Given the description of an element on the screen output the (x, y) to click on. 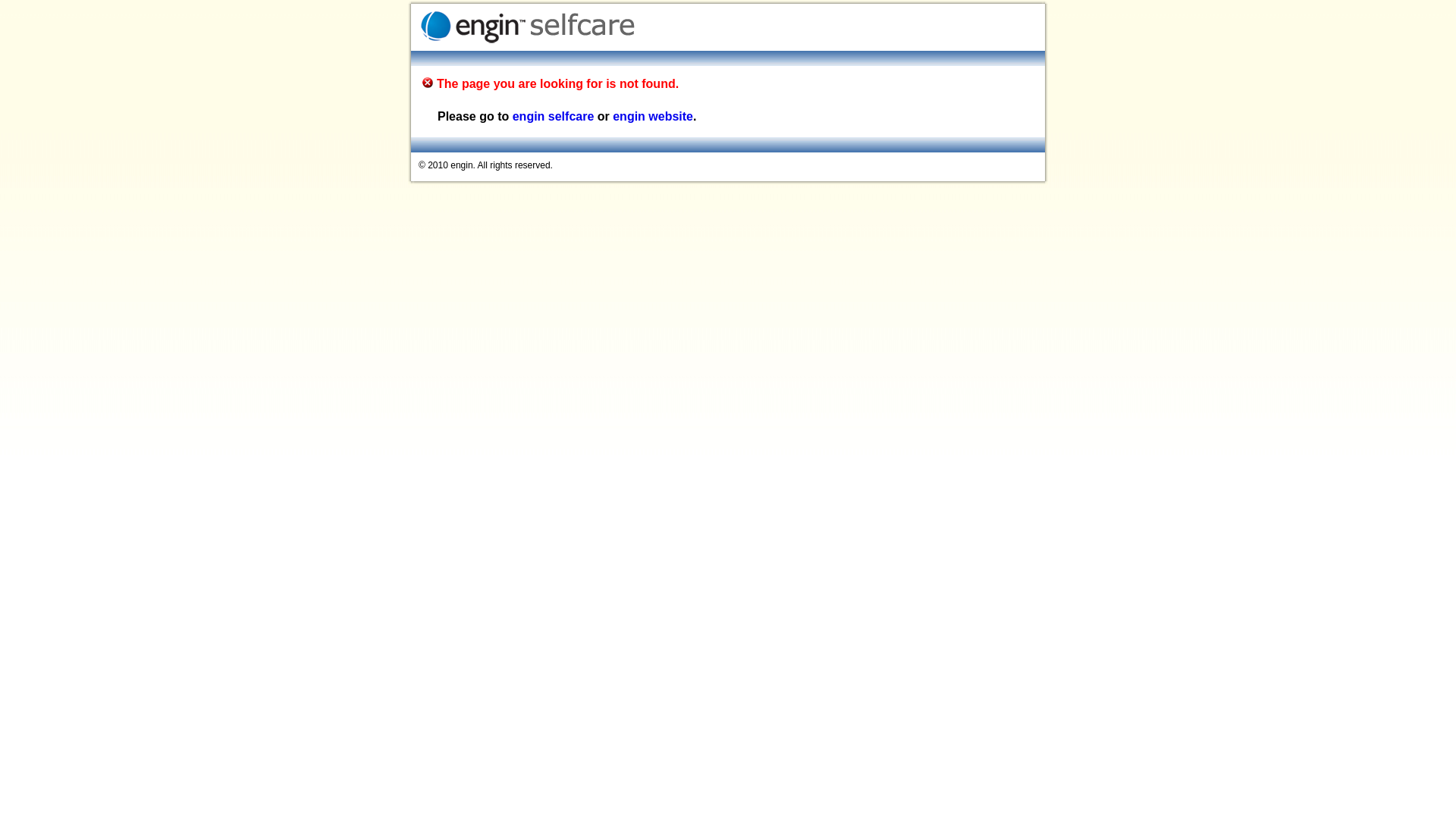
engin selfcare Element type: text (553, 115)
engin website Element type: text (652, 115)
